Given the description of an element on the screen output the (x, y) to click on. 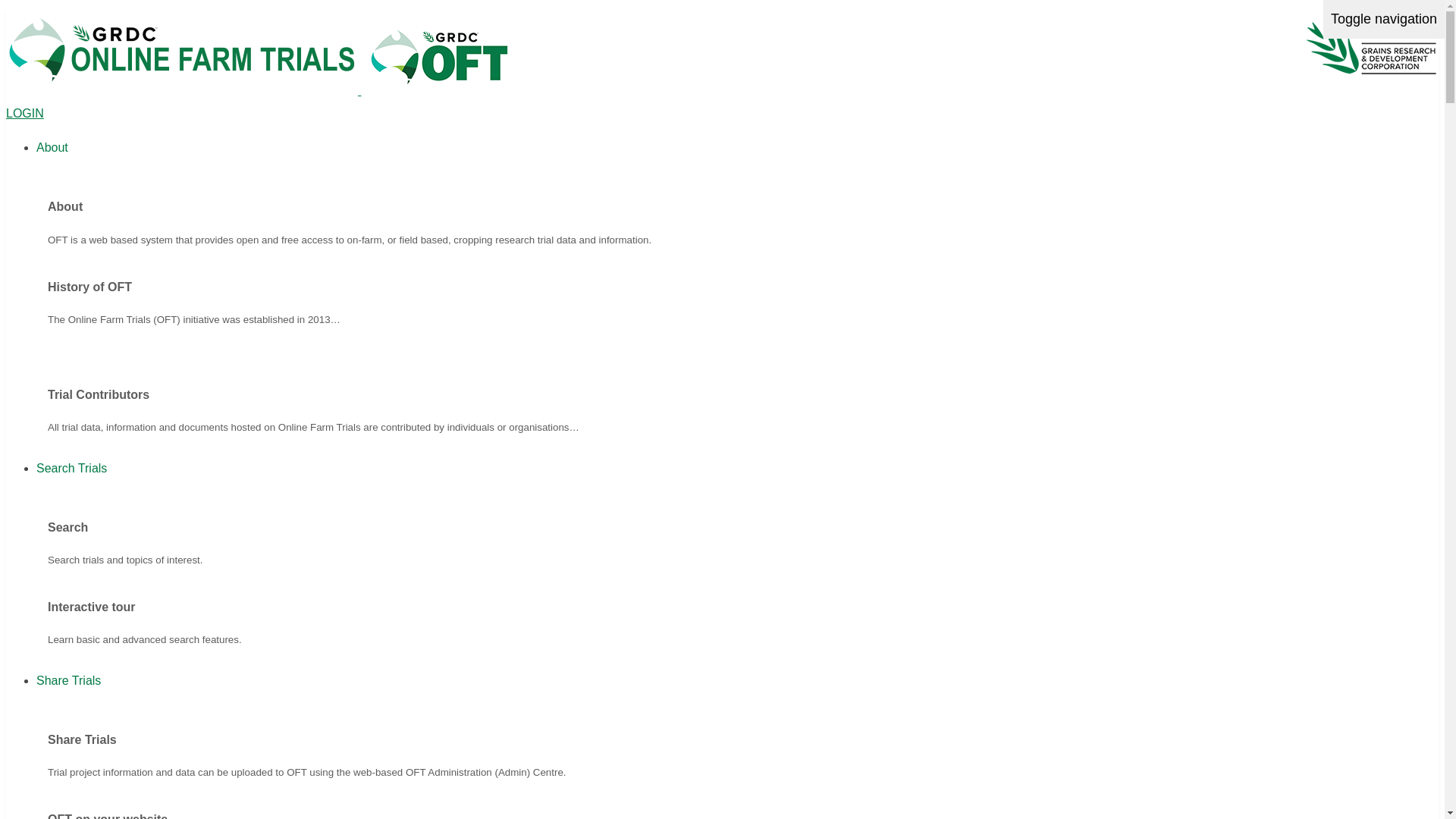
About Element type: text (52, 147)
Search
Search trials and topics of interest. Element type: text (737, 534)
Interactive tour
Learn basic and advanced search features. Element type: text (737, 614)
Toggle navigation Element type: text (1383, 19)
Share Trials Element type: text (68, 680)
LOGIN Element type: text (24, 112)
Search Trials Element type: text (71, 467)
